Given the description of an element on the screen output the (x, y) to click on. 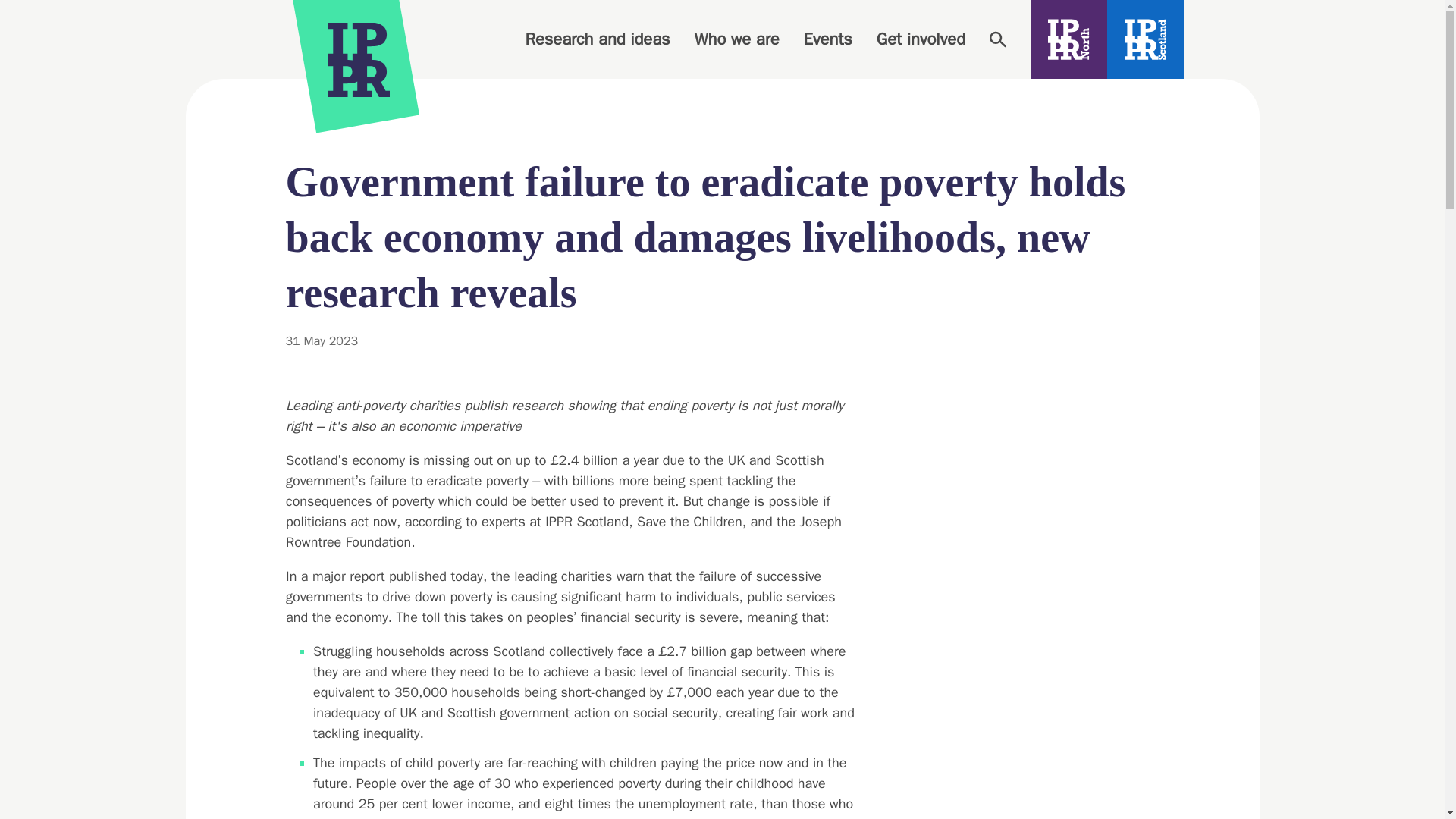
Events (827, 39)
Research and ideas (596, 39)
Get involved (920, 39)
Who we are (736, 39)
